Given the description of an element on the screen output the (x, y) to click on. 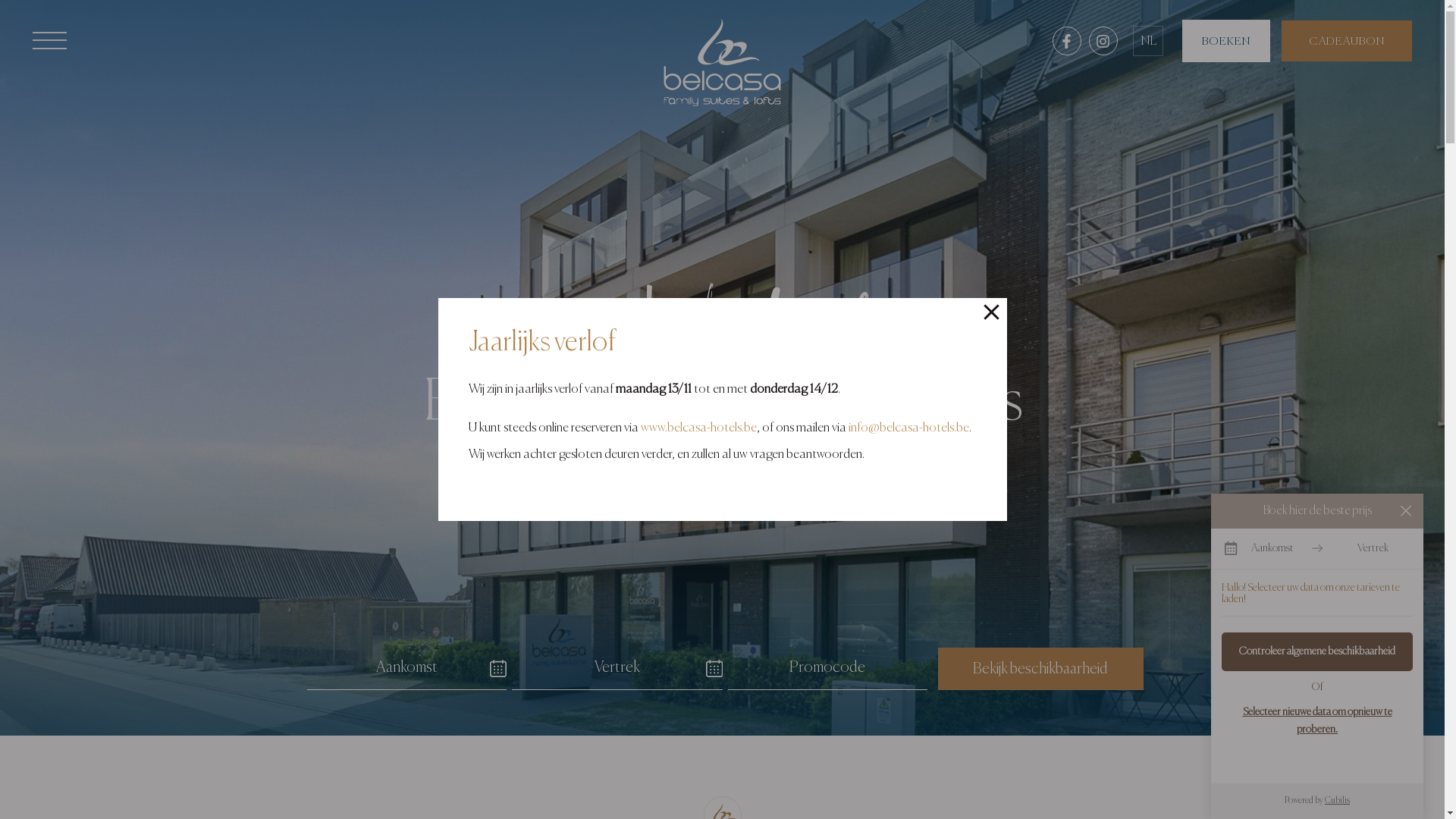
info@belcasa-hotels.be Element type: text (907, 427)
Bekijk beschikbaarheid Element type: text (1040, 668)
BOEKEN Element type: text (1226, 40)
Controleer algemene beschikbaarheid Element type: text (1316, 651)
www.belcasa-hotels.be Element type: text (698, 427)
Selecteer nieuwe data om opnieuw te proberen. Element type: text (1316, 720)
Cubilis Element type: text (1336, 800)
CADEAUBON Element type: text (1346, 40)
